Given the description of an element on the screen output the (x, y) to click on. 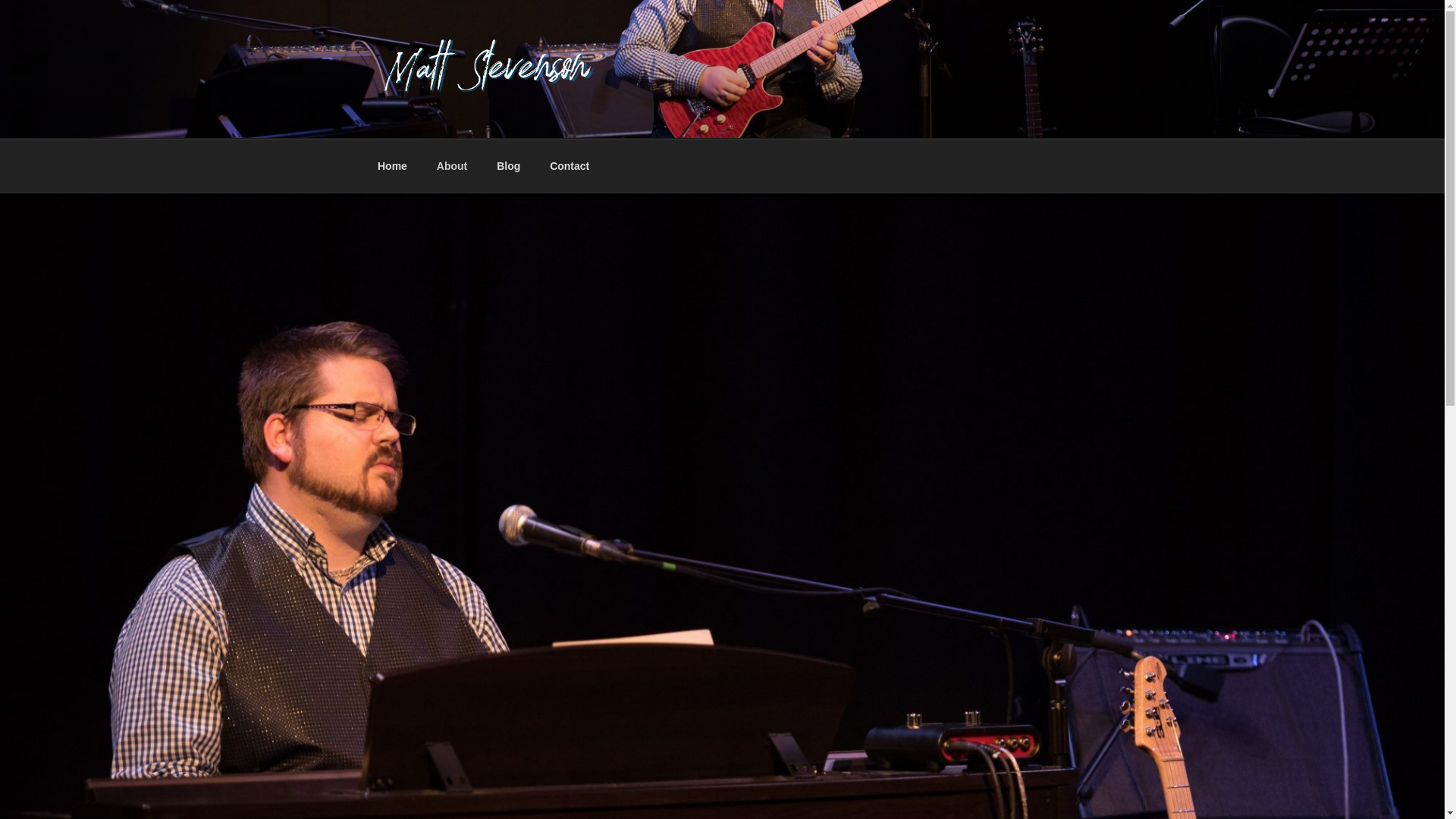
Blog (508, 165)
Home (392, 165)
Contact (569, 165)
About (451, 165)
